Given the description of an element on the screen output the (x, y) to click on. 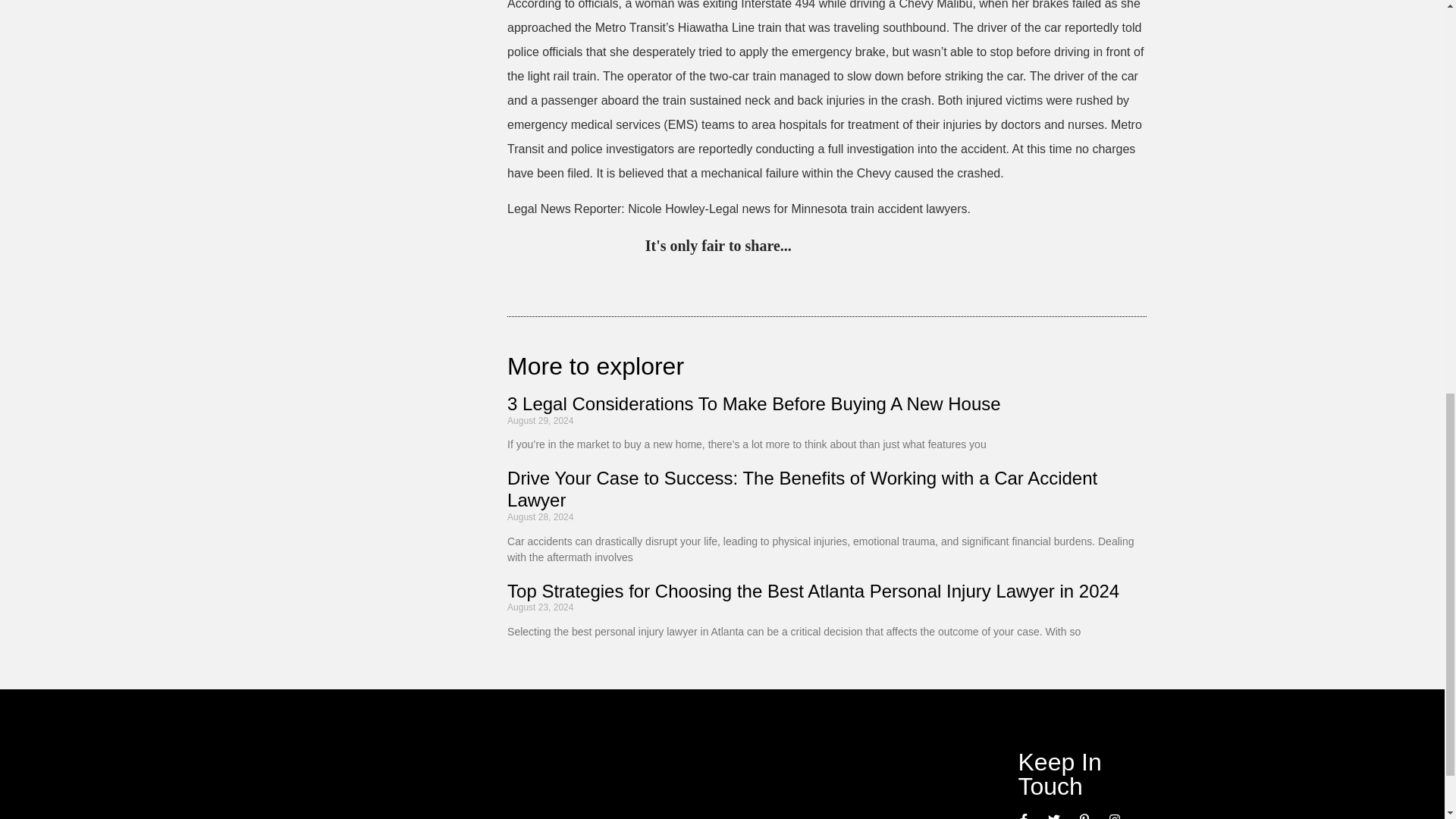
facebook (931, 246)
email (962, 246)
linkedin (869, 246)
twitter (837, 246)
google (900, 246)
pinterest (807, 246)
print (993, 246)
3 Legal Considerations To Make Before Buying A New House (753, 403)
